Given the description of an element on the screen output the (x, y) to click on. 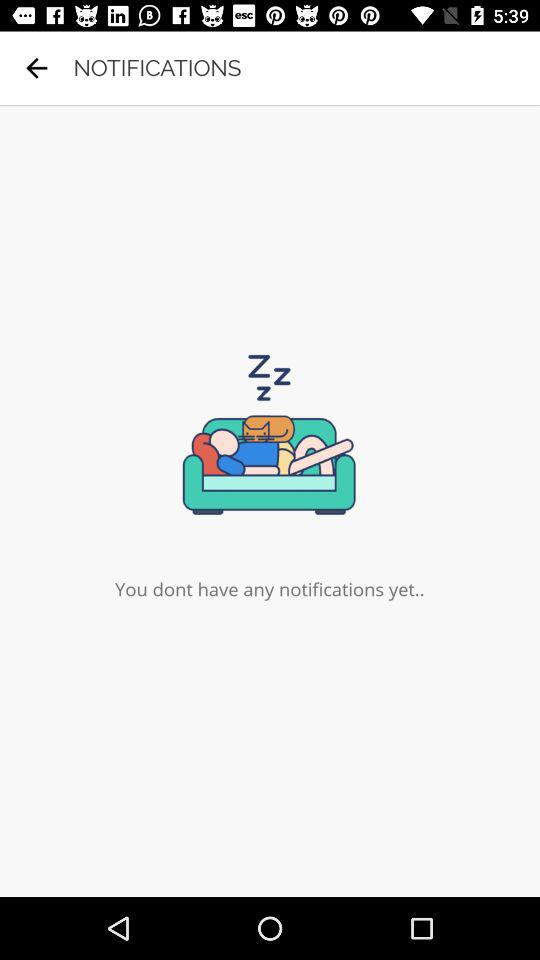
tap icon next to notifications icon (36, 68)
